Given the description of an element on the screen output the (x, y) to click on. 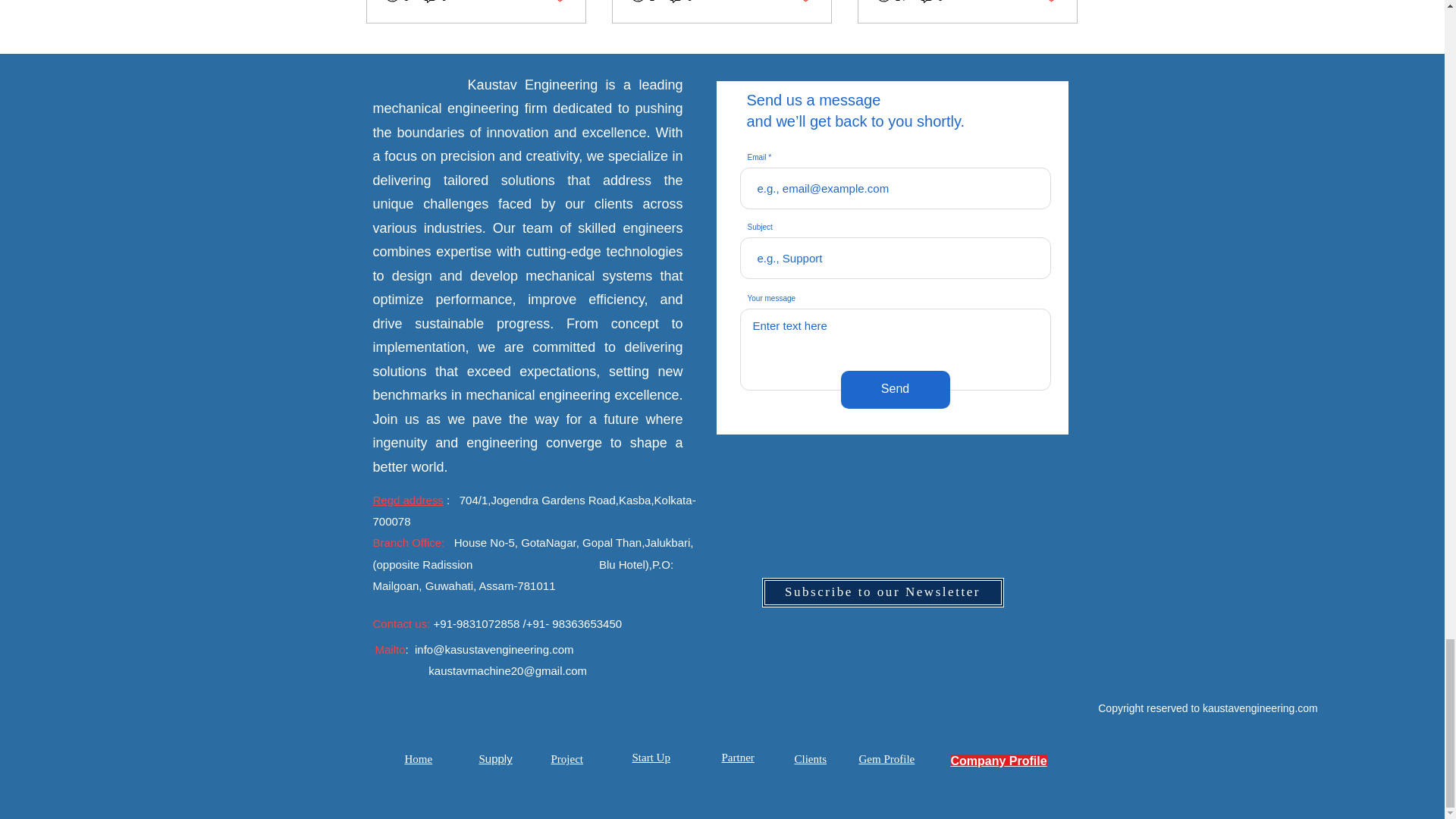
Post not marked as liked (804, 2)
0 (435, 2)
Post not marked as liked (558, 2)
0 (681, 2)
